Given the description of an element on the screen output the (x, y) to click on. 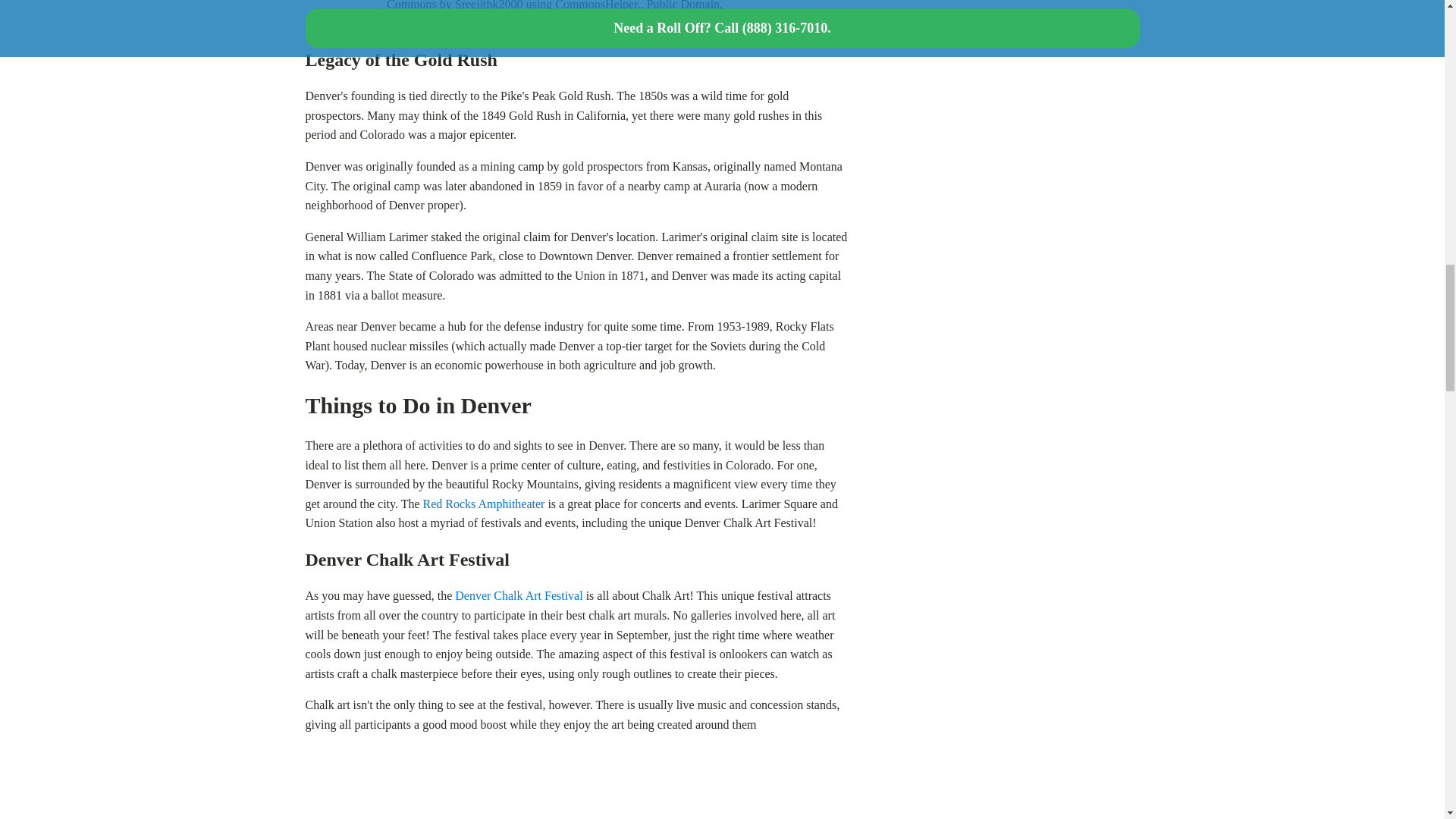
Red Rocks Amphitheater (483, 503)
Denver Chalk Art Festival (518, 594)
